Given the description of an element on the screen output the (x, y) to click on. 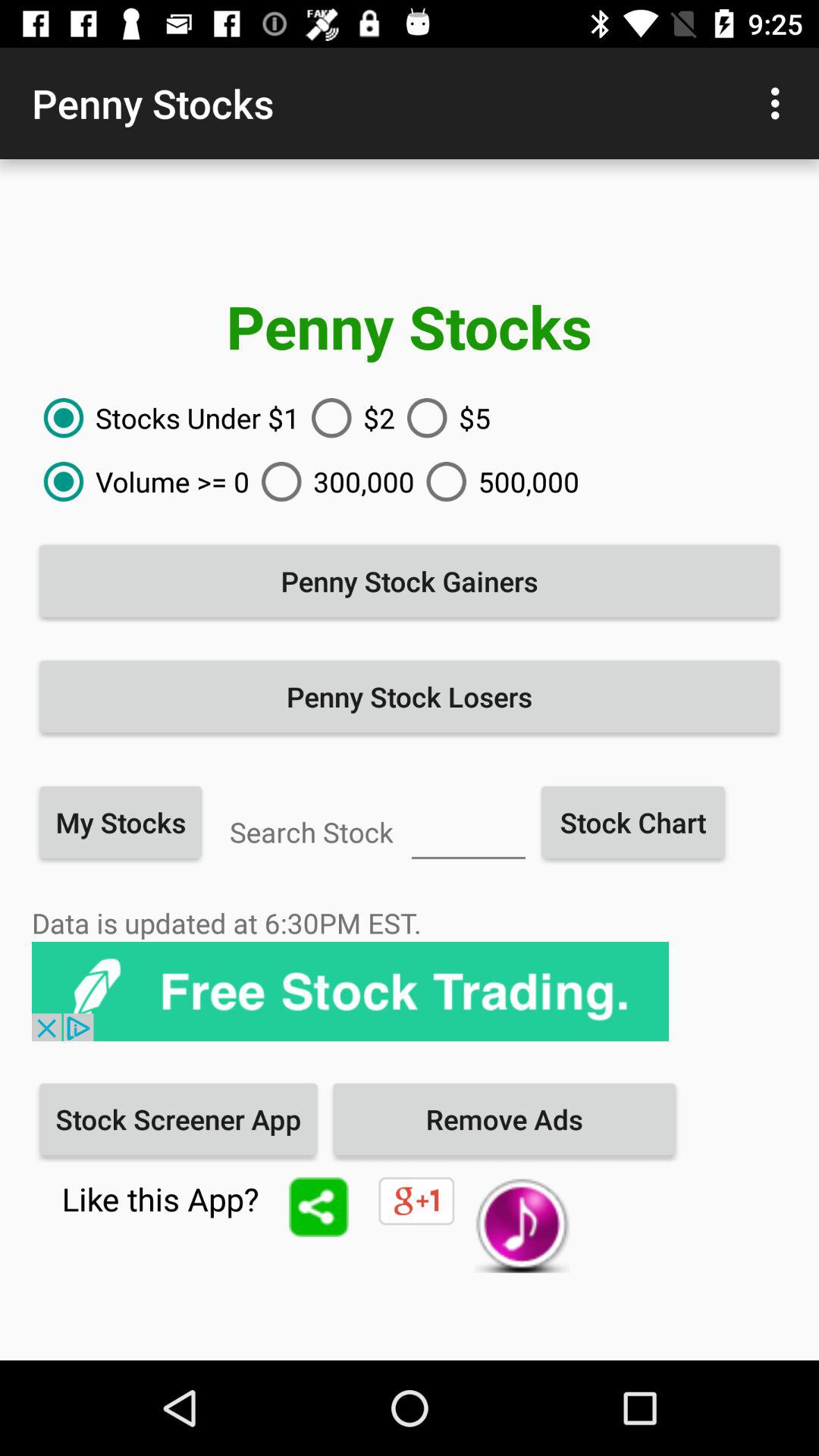
tap the icon below stock screener app (318, 1207)
